Given the description of an element on the screen output the (x, y) to click on. 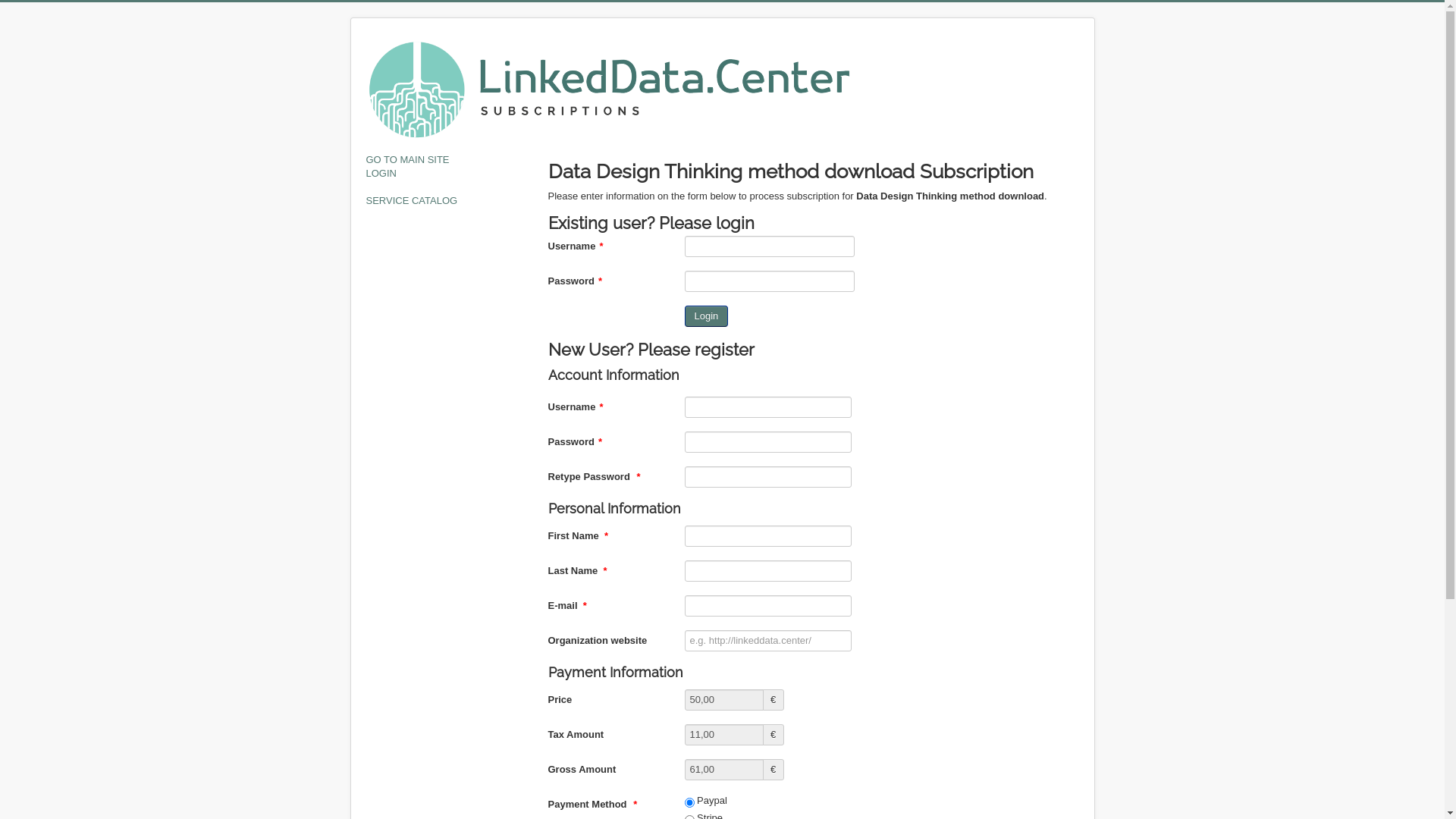
GO TO MAIN SITE Element type: text (448, 159)
SERVICE CATALOG Element type: text (448, 200)
LOGIN Element type: text (448, 173)
os_paypal Element type: text (688, 802)
Login Element type: text (706, 315)
